Given the description of an element on the screen output the (x, y) to click on. 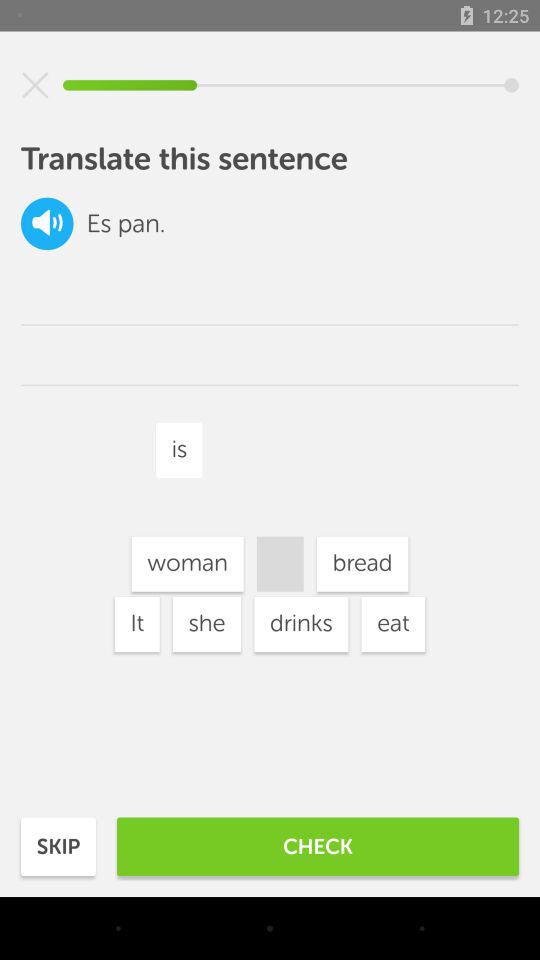
turn off the item next to drinks (187, 563)
